Given the description of an element on the screen output the (x, y) to click on. 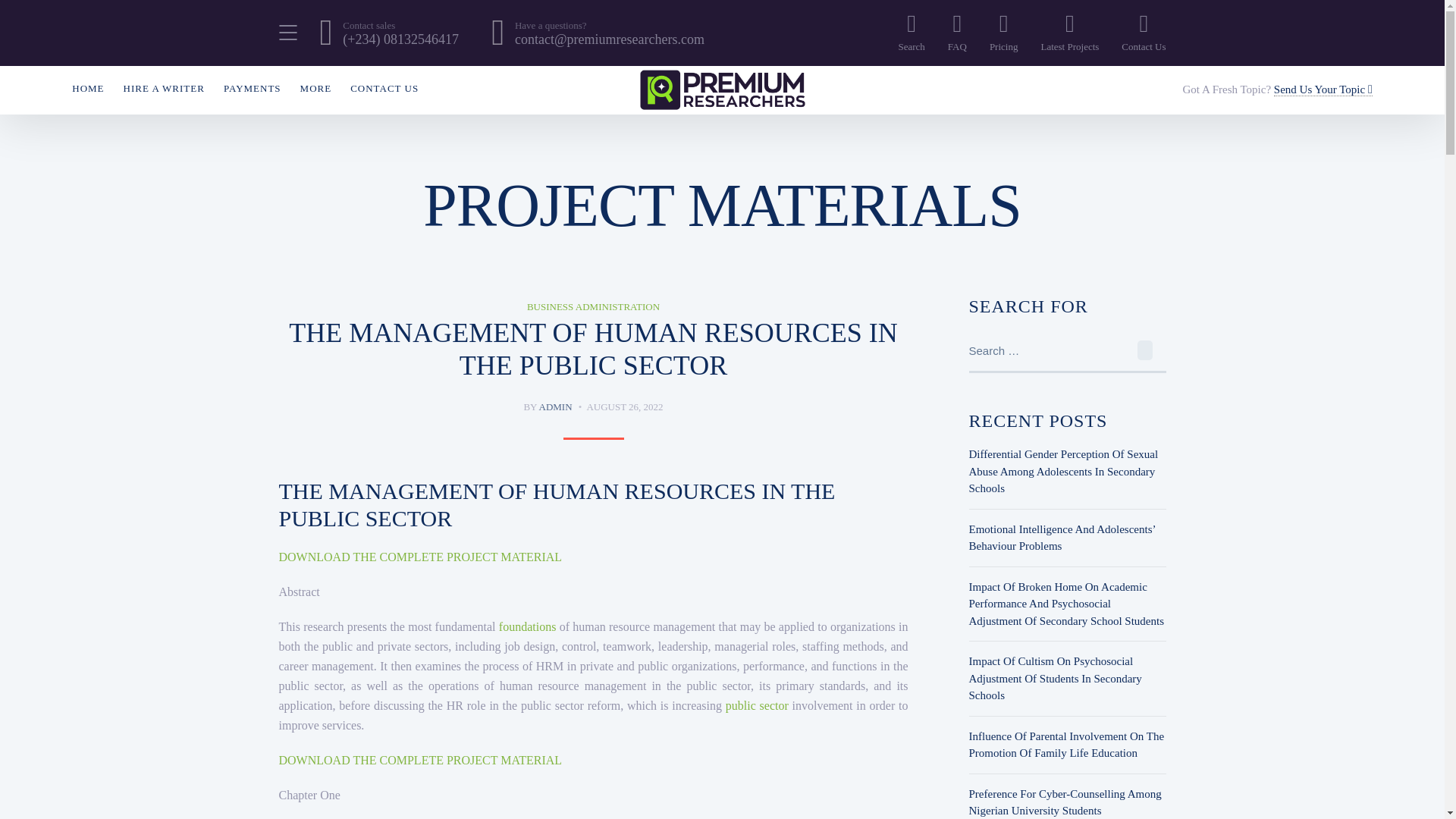
CONTACT US (384, 87)
Send Us Your Topic (1323, 89)
DOWNLOAD THE COMPLETE PROJECT MATERIAL (420, 556)
Posts by admin (555, 406)
public sector (755, 705)
DOWNLOAD THE COMPLETE PROJECT MATERIAL (420, 759)
ADMIN (555, 406)
HIRE A WRITER (164, 87)
BUSINESS ADMINISTRATION (593, 306)
foundations (527, 626)
